Given the description of an element on the screen output the (x, y) to click on. 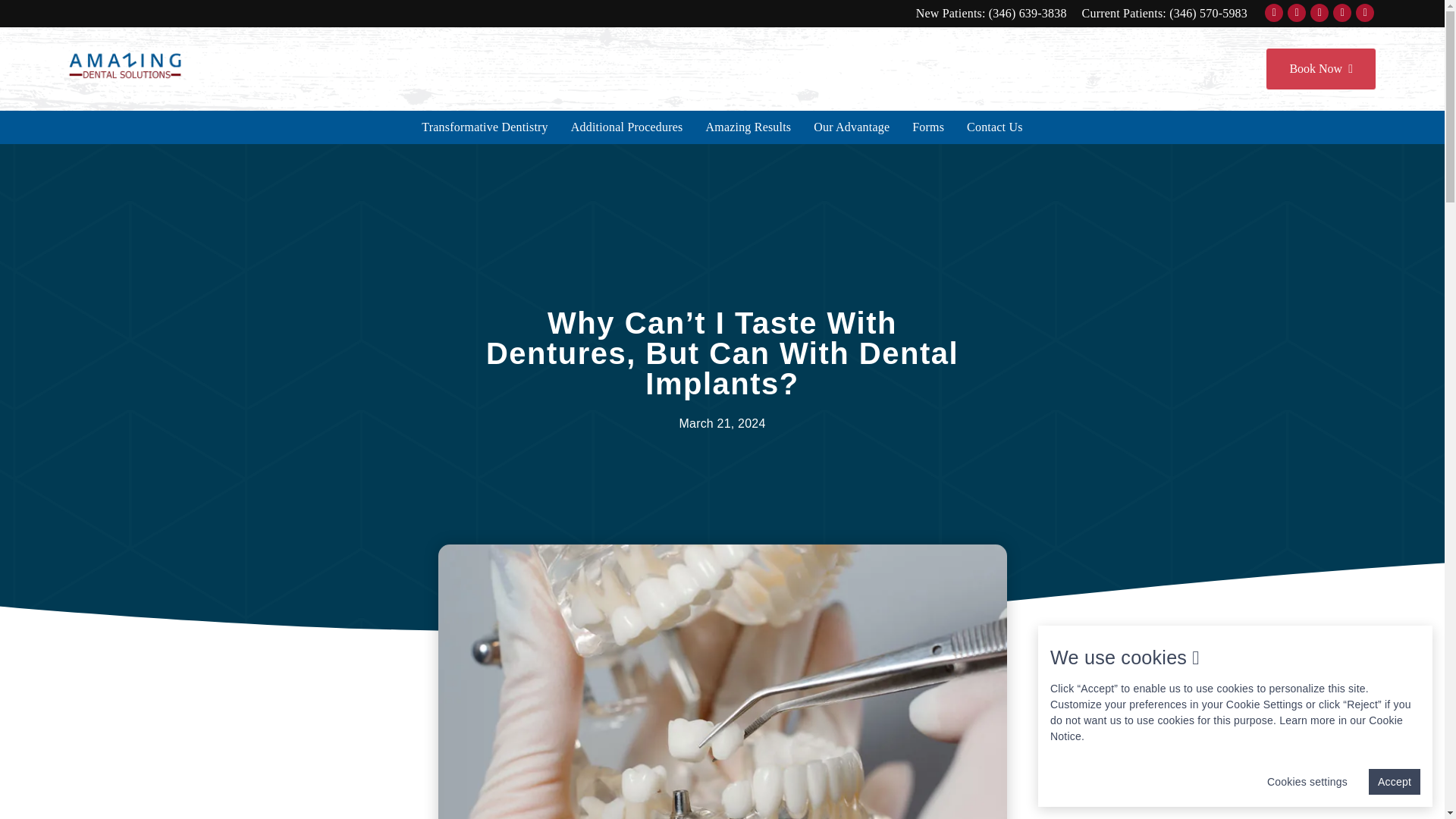
Amazing Results (748, 127)
Transformative Dentistry (484, 127)
Additional Procedures (626, 127)
Book Now (1320, 68)
Our Advantage (851, 127)
